Given the description of an element on the screen output the (x, y) to click on. 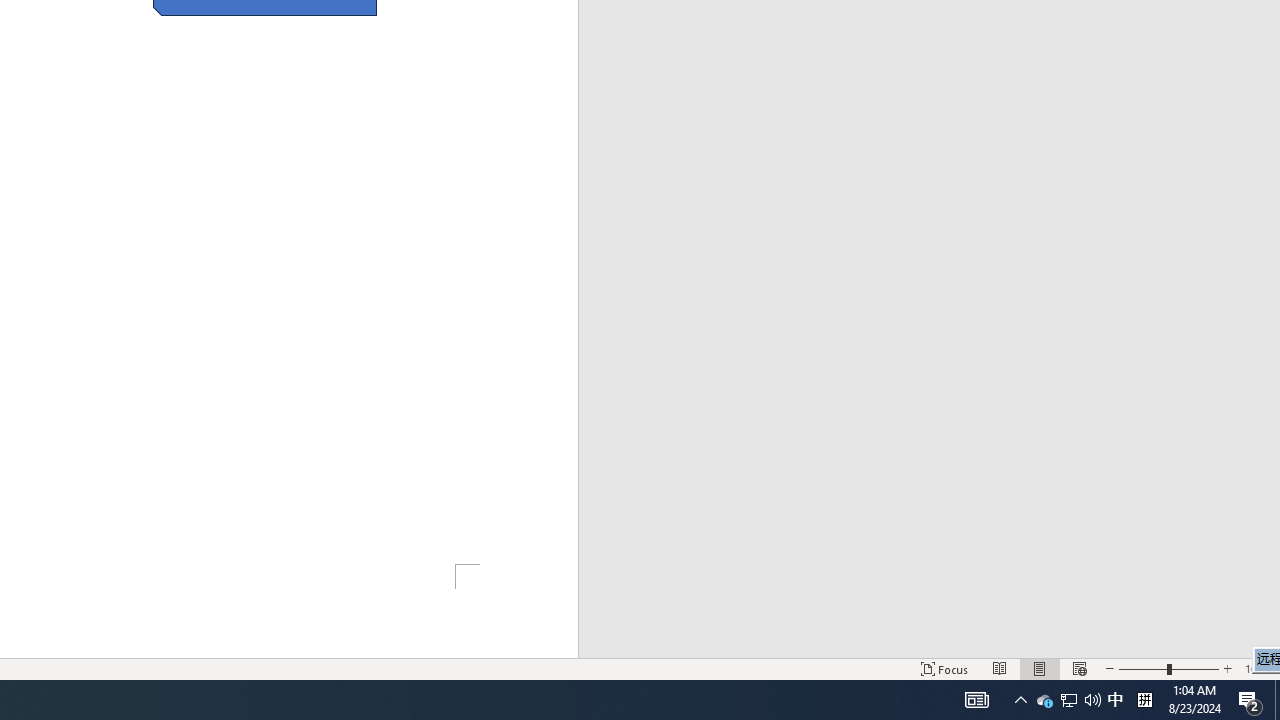
Zoom 104% (1258, 668)
